Given the description of an element on the screen output the (x, y) to click on. 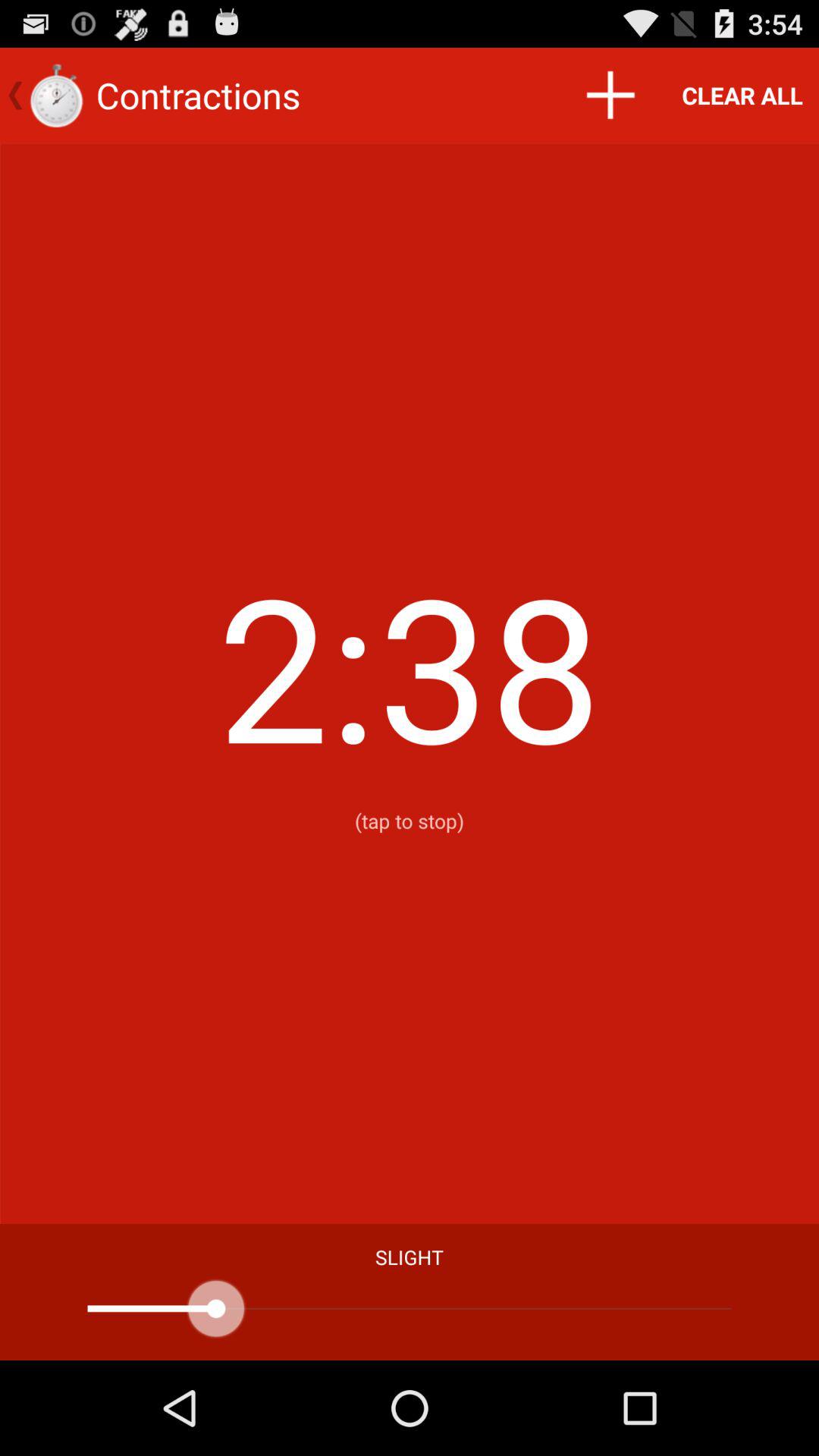
press icon to the right of contractions item (610, 95)
